Given the description of an element on the screen output the (x, y) to click on. 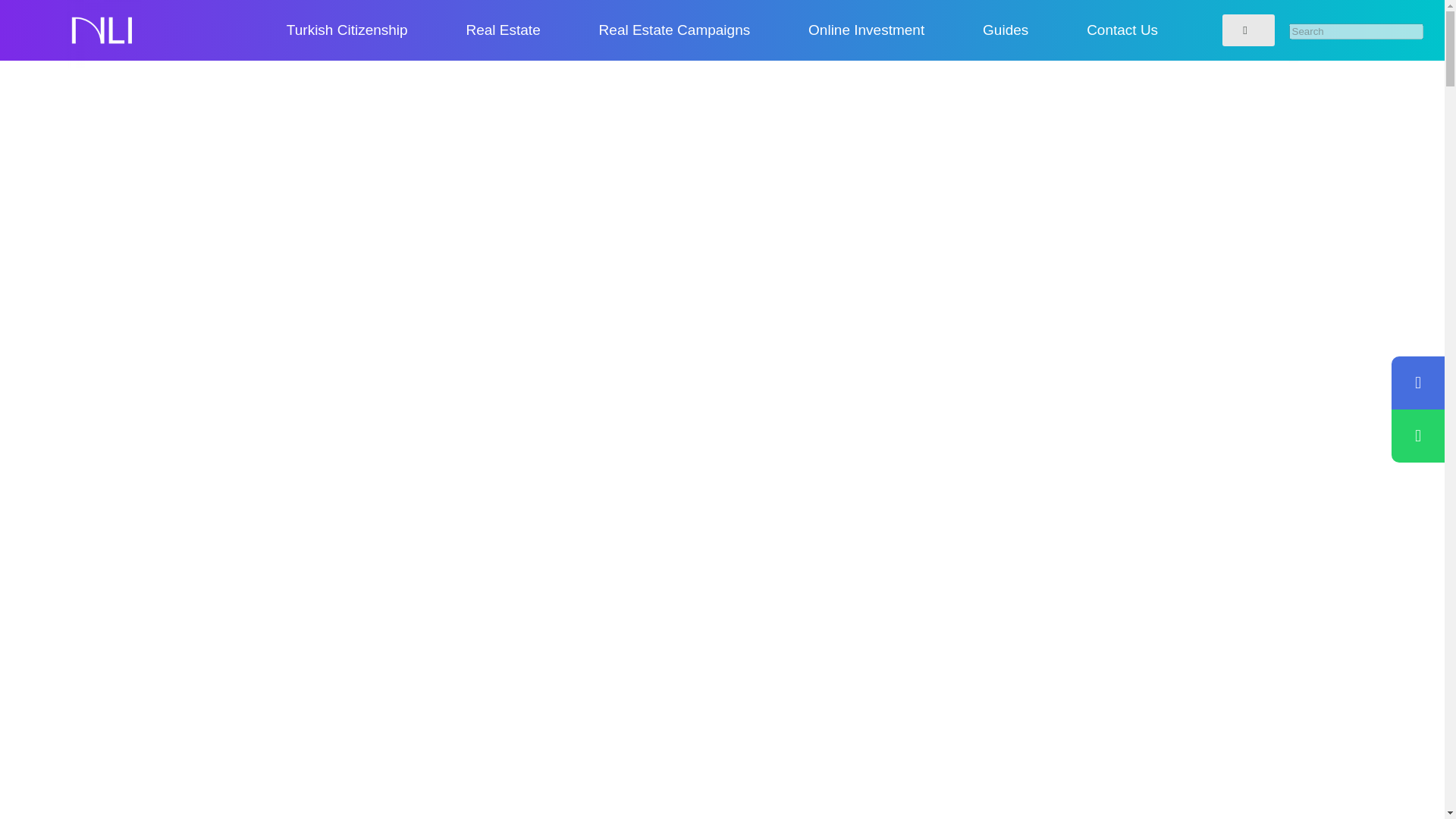
Email (610, 624)
Contact Us (1122, 30)
Guides (1005, 30)
Real Estate (502, 30)
Facebook (722, 624)
Real Estate Campaigns (674, 30)
Turkish Citizenship (347, 30)
Online Investment (866, 30)
Instagram (665, 624)
